Given the description of an element on the screen output the (x, y) to click on. 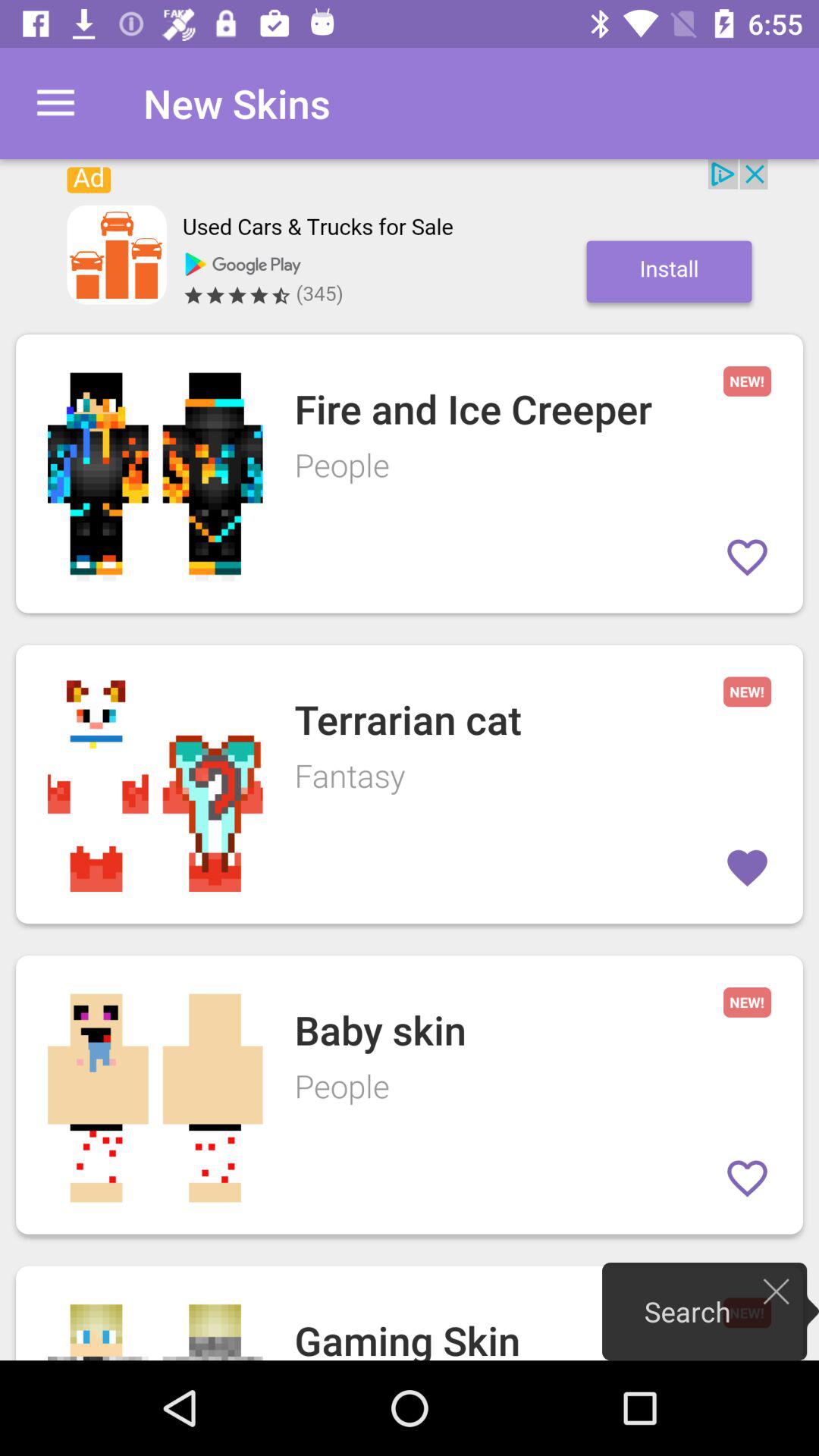
like button (747, 1178)
